Given the description of an element on the screen output the (x, y) to click on. 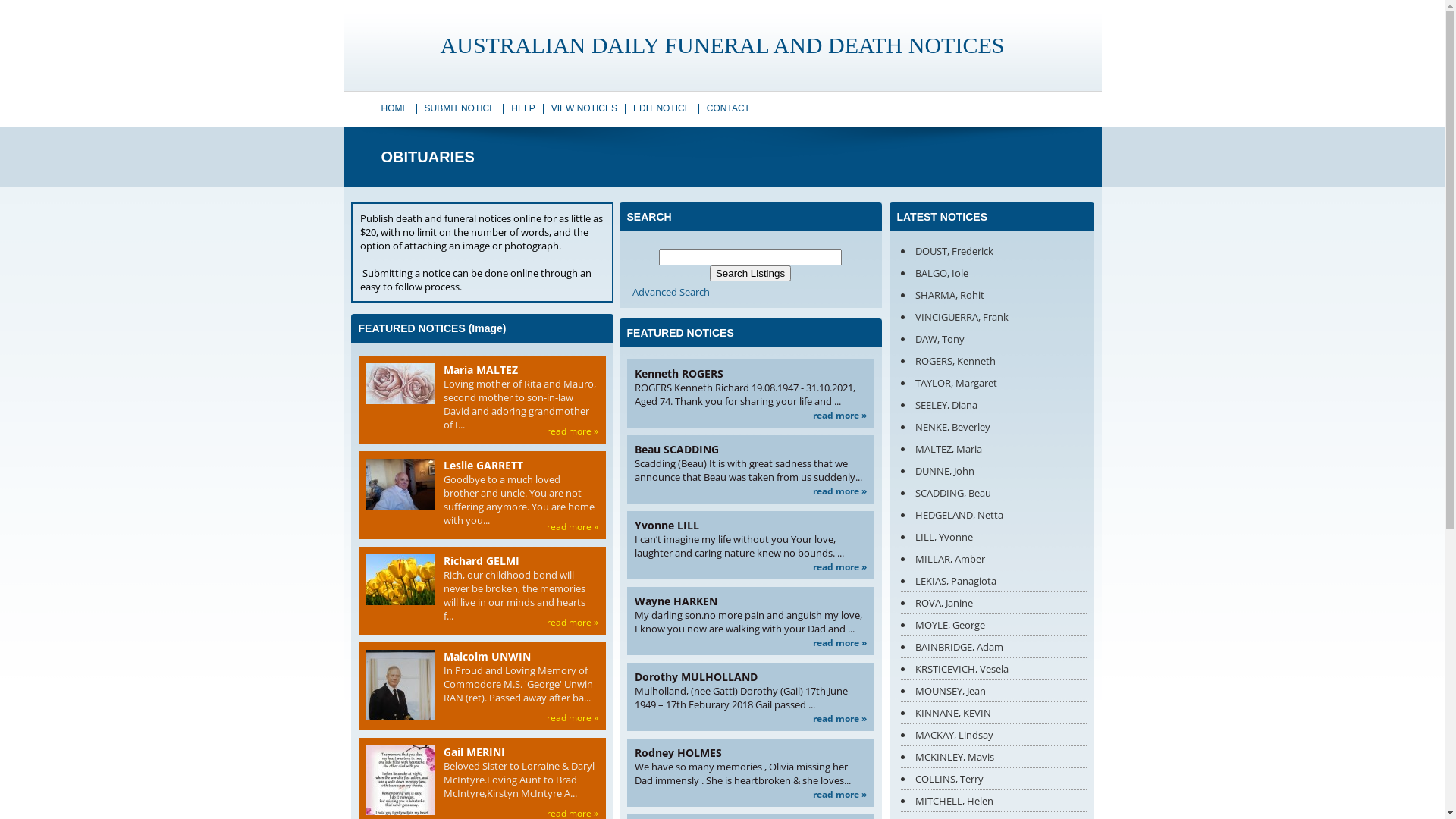
ROVA, Janine Element type: text (943, 602)
HOME Element type: text (393, 107)
Maria MALTEZ Element type: text (479, 369)
SEELEY, Diana Element type: text (945, 404)
VINCIGUERRA, Frank Element type: text (960, 316)
Rodney HOLMES Element type: text (677, 752)
MOUNSEY, Jean Element type: text (949, 690)
Yvonne LILL Element type: text (665, 524)
MILLAR, Amber Element type: text (949, 558)
SHARMA, Rohit Element type: text (948, 294)
LEKIAS, Panagiota Element type: text (954, 580)
MITCHELL, Helen Element type: text (953, 800)
DAW, Tony Element type: text (938, 338)
Advanced Search Element type: text (749, 291)
MALTEZ, Maria Element type: text (947, 448)
ROGERS, Kenneth Element type: text (954, 360)
BAINBRIDGE, Adam Element type: text (958, 646)
Leslie GARRETT Element type: text (482, 465)
KRSTICEVICH, Vesela Element type: text (960, 668)
KINNANE, KEVIN Element type: text (952, 712)
MOYLE, George Element type: text (949, 624)
Gelmi Element type: hover (399, 579)
MACKAY, Lindsay Element type: text (953, 734)
EDIT NOTICE Element type: text (661, 107)
Richard GELMI Element type: text (480, 560)
HELP Element type: text (522, 107)
Maltez Element type: hover (399, 383)
Malcolm UNWIN Element type: text (486, 656)
MCKINLEY, Mavis Element type: text (953, 756)
TAYLOR, Margaret Element type: text (955, 382)
SCADDING, Beau Element type: text (952, 492)
Kenneth ROGERS Element type: text (677, 373)
BALGO, Iole Element type: text (940, 272)
Beau SCADDING Element type: text (675, 449)
LILL, Yvonne Element type: text (943, 536)
Gail MERINI Element type: text (473, 751)
Wayne HARKEN Element type: text (674, 600)
SUBMIT NOTICE Element type: text (459, 107)
NENKE, Beverley Element type: text (951, 426)
COLLINS, Terry Element type: text (948, 778)
Garrett Element type: hover (399, 483)
DOUST, Frederick Element type: text (953, 250)
Unwin Element type: hover (399, 694)
CONTACT Element type: text (727, 107)
HEDGELAND, Netta Element type: text (958, 514)
Dorothy MULHOLLAND Element type: text (694, 676)
VIEW NOTICES Element type: text (584, 107)
Search Listings Element type: text (749, 273)
DUNNE, John Element type: text (943, 470)
Submitting a notice Element type: text (406, 272)
